Given the description of an element on the screen output the (x, y) to click on. 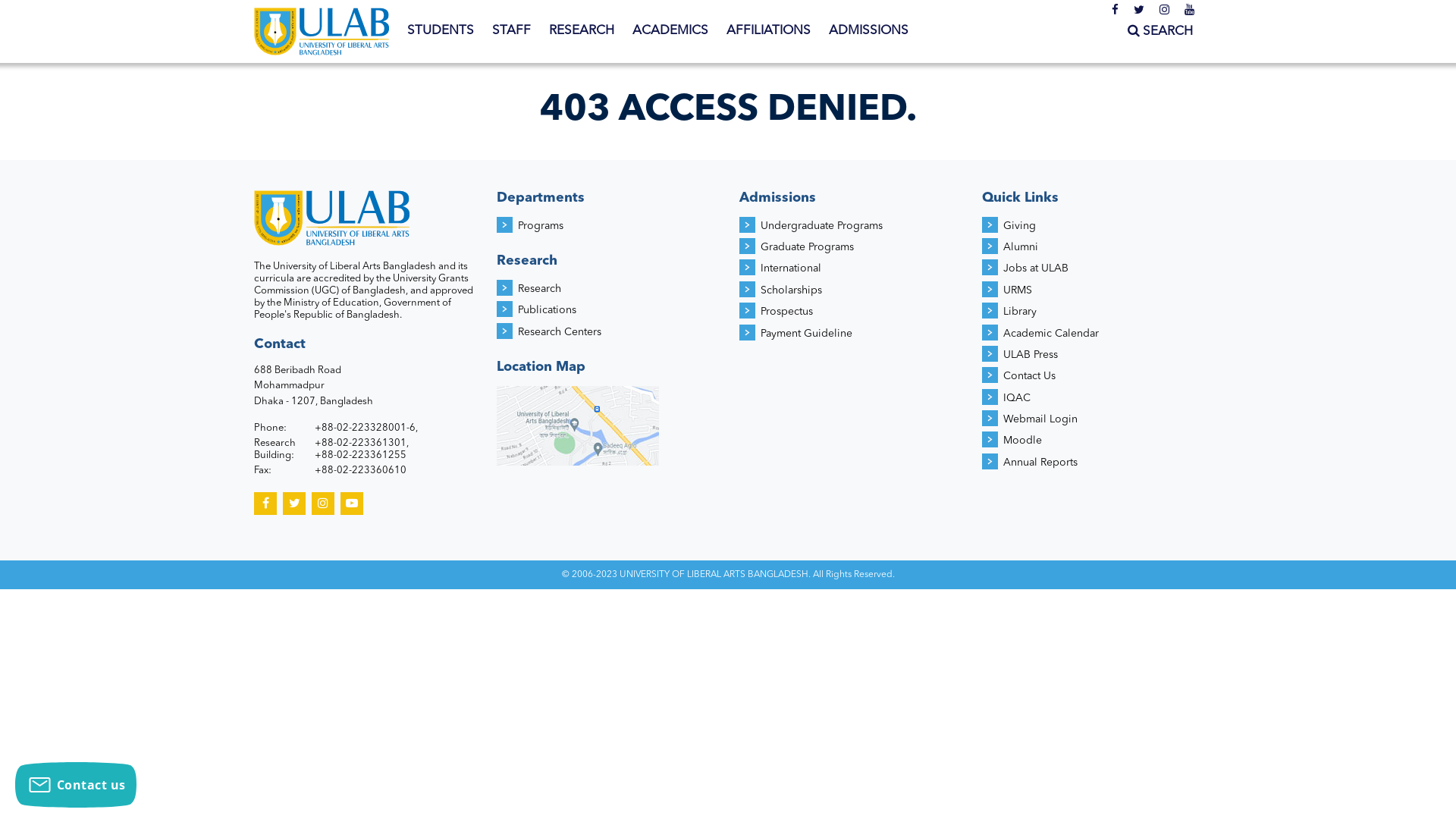
Publications Element type: text (546, 309)
IQAC Element type: text (1016, 397)
Academic Calendar Element type: text (1050, 333)
Webmail Login Element type: text (1040, 419)
STAFF Element type: text (511, 30)
Research Centers Element type: text (559, 331)
Jobs at ULAB Element type: text (1035, 268)
Annual Reports Element type: text (1040, 462)
Prospectus Element type: text (786, 311)
URMS Element type: text (1017, 290)
Payment Guideline Element type: text (806, 333)
SEARCH Element type: text (1159, 31)
Graduate Programs Element type: text (806, 246)
RESEARCH Element type: text (581, 30)
Alumni Element type: text (1020, 246)
Undergraduate Programs Element type: text (821, 225)
Skip to main content Element type: text (61, 0)
Research Element type: text (539, 288)
Giving Element type: text (1019, 225)
Scholarships Element type: text (791, 290)
ACADEMICS Element type: text (670, 30)
Contact Us Element type: text (1029, 375)
Moodle Element type: text (1022, 440)
ADMISSIONS Element type: text (868, 30)
ULAB Press Element type: text (1030, 354)
International Element type: text (790, 268)
Contact us Element type: text (75, 784)
Library Element type: text (1019, 311)
Programs Element type: text (540, 225)
AFFILIATIONS Element type: text (768, 30)
STUDENTS Element type: text (440, 30)
